Given the description of an element on the screen output the (x, y) to click on. 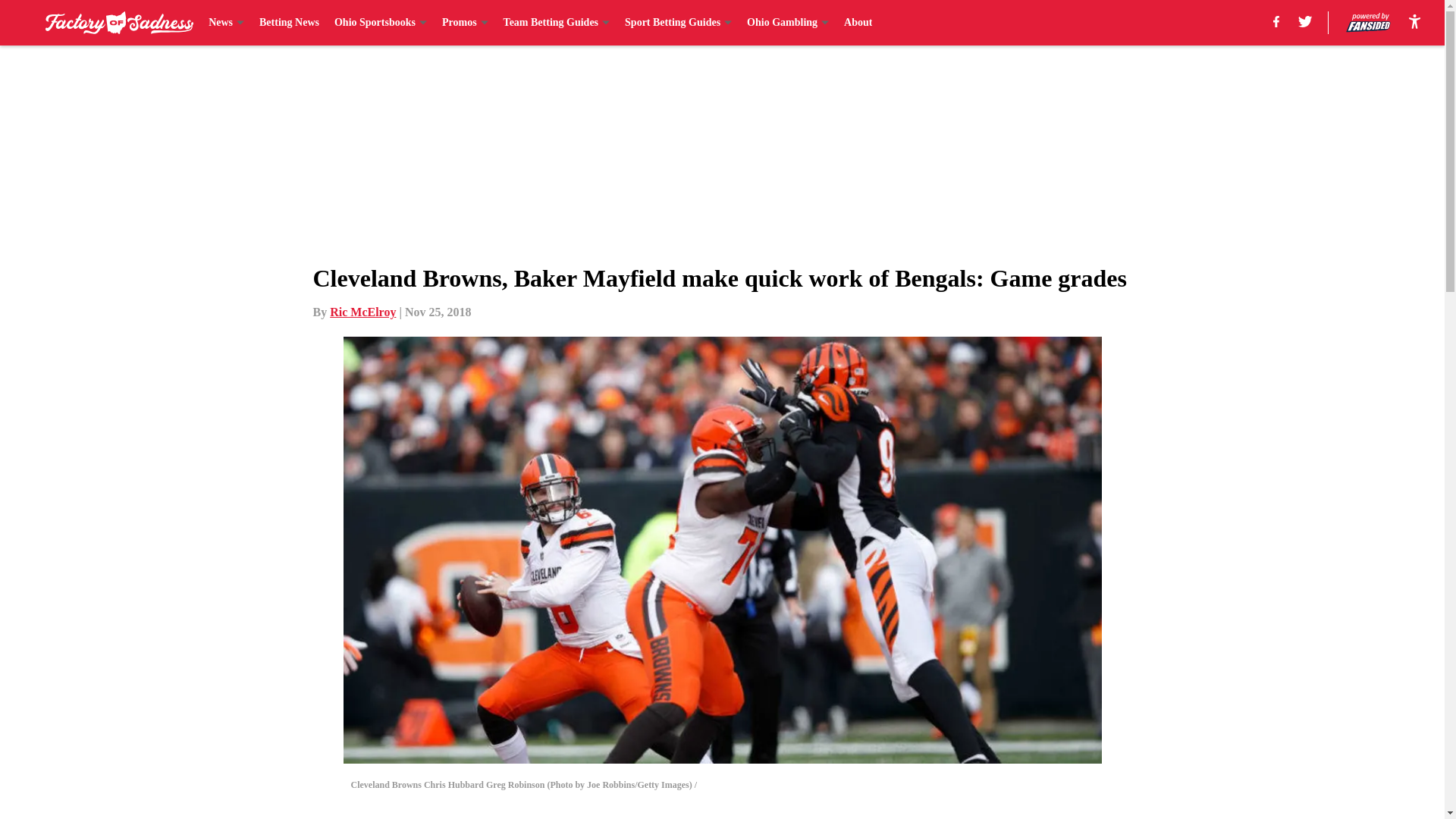
Betting News (288, 22)
Ric McElroy (363, 311)
About (858, 22)
